Given the description of an element on the screen output the (x, y) to click on. 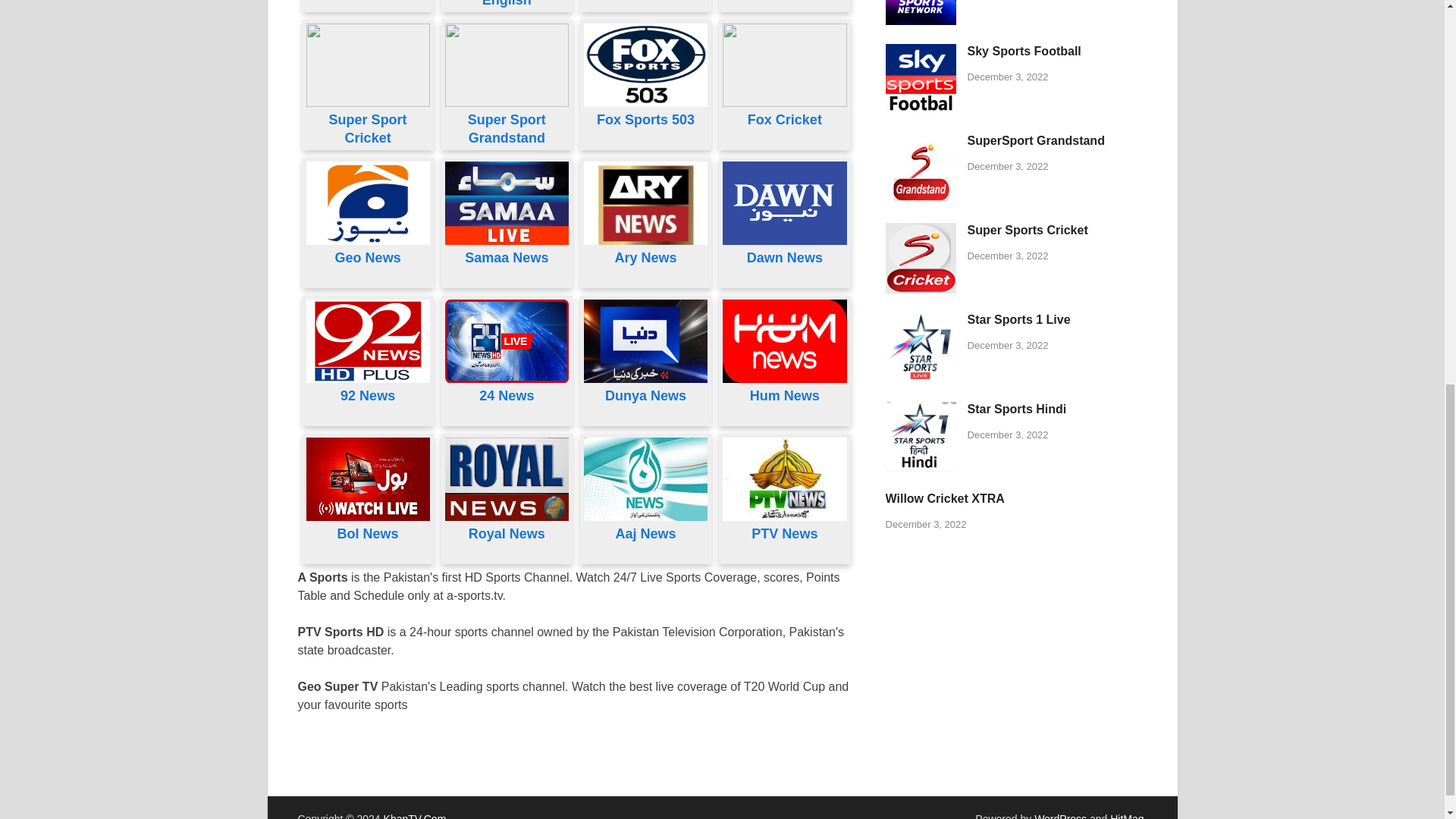
Star Sports 1 Live (920, 320)
SuperSport Grandstand (920, 141)
Star Sports 1 English (507, 3)
Super Sports Cricket (920, 231)
Sky Sports Football (920, 51)
Star Sports Hindi (920, 410)
